Given the description of an element on the screen output the (x, y) to click on. 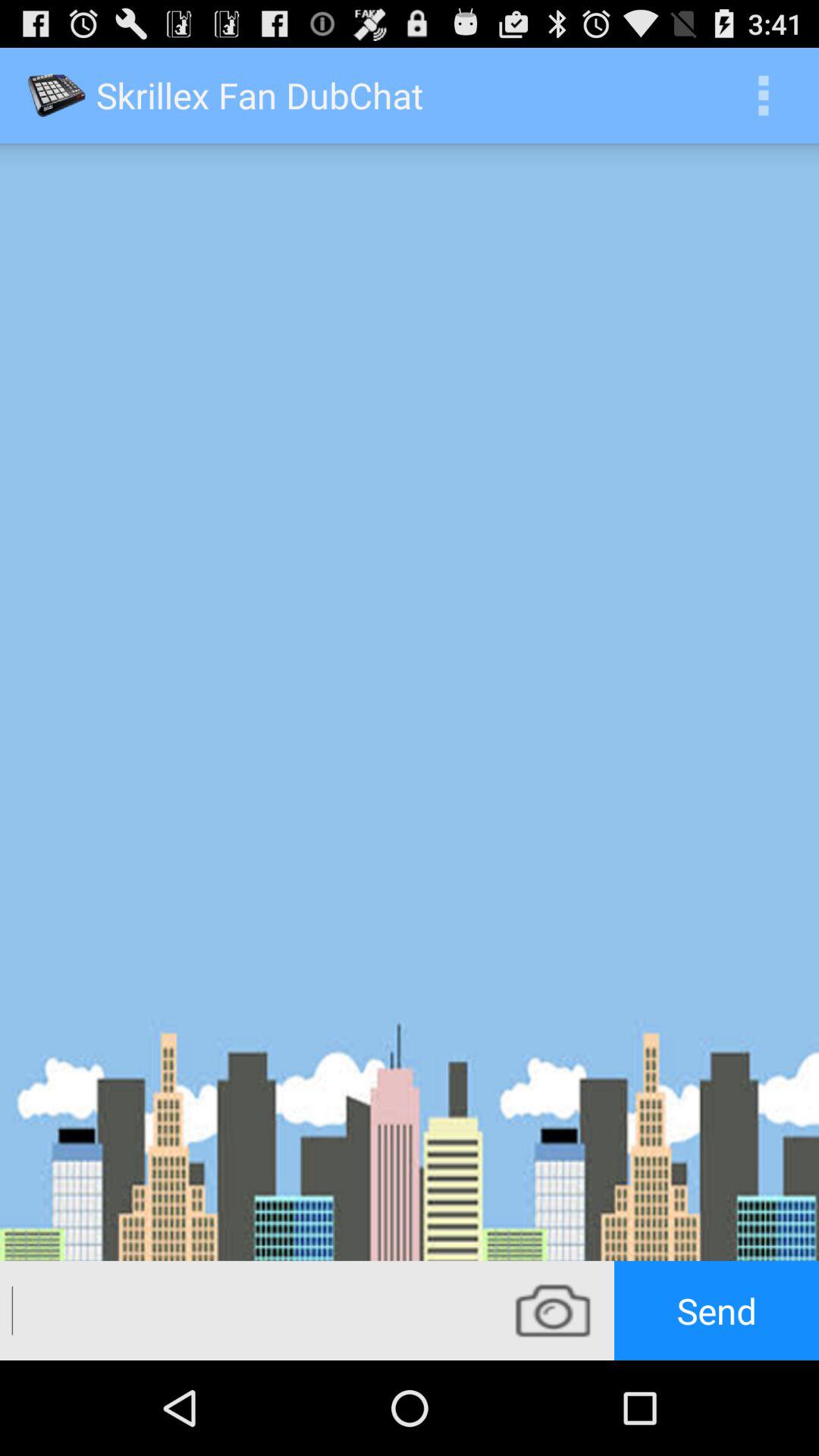
messages here (245, 1310)
